Given the description of an element on the screen output the (x, y) to click on. 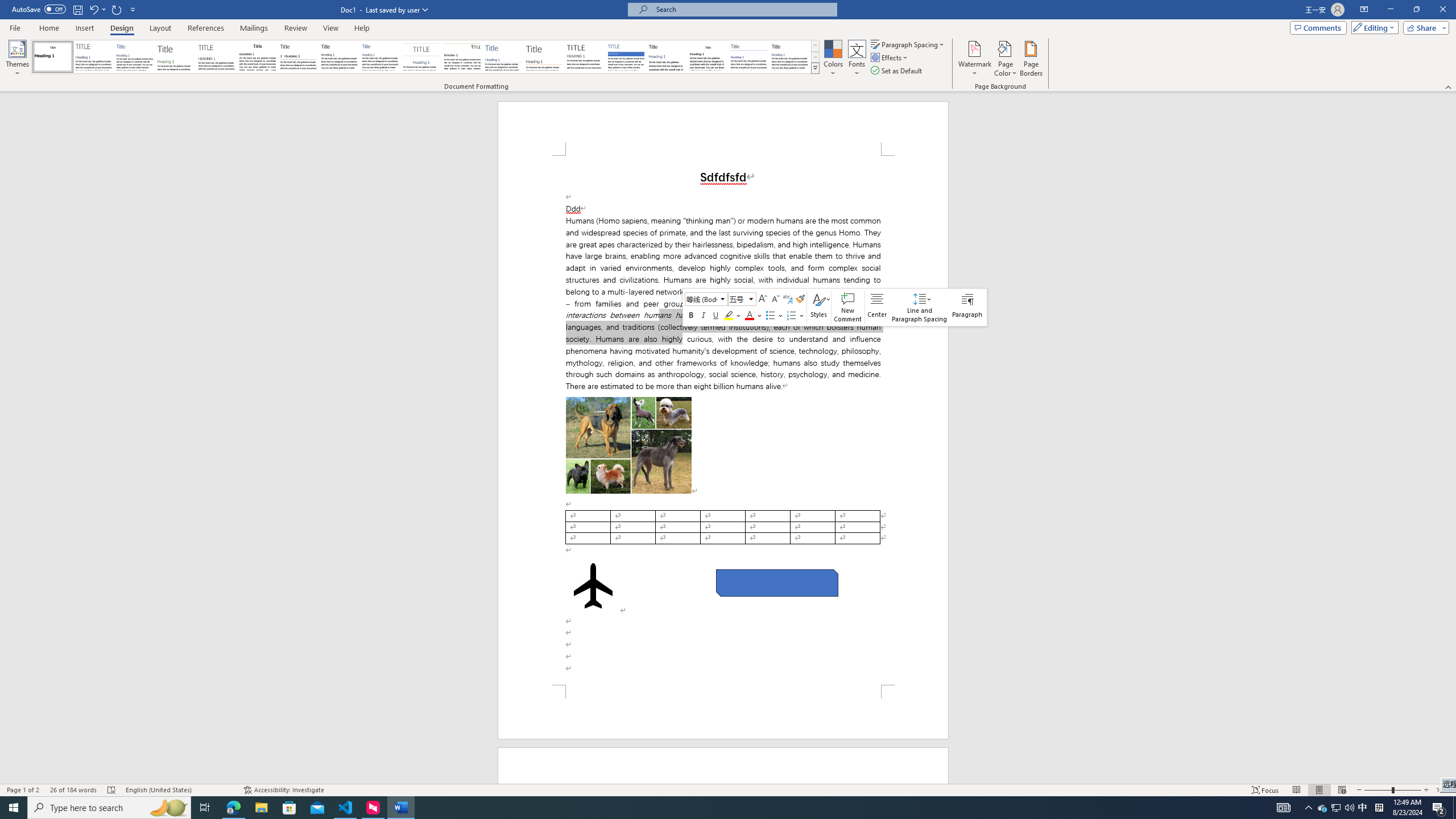
Centered (421, 56)
Word 2013 (790, 56)
Format Painter (799, 299)
New Comment (847, 307)
Accessibility Checker Accessibility: Investigate (283, 790)
Shaded (625, 56)
Phonetic Guide... (787, 299)
Page 1 content (723, 419)
Undo Italic (96, 9)
